Given the description of an element on the screen output the (x, y) to click on. 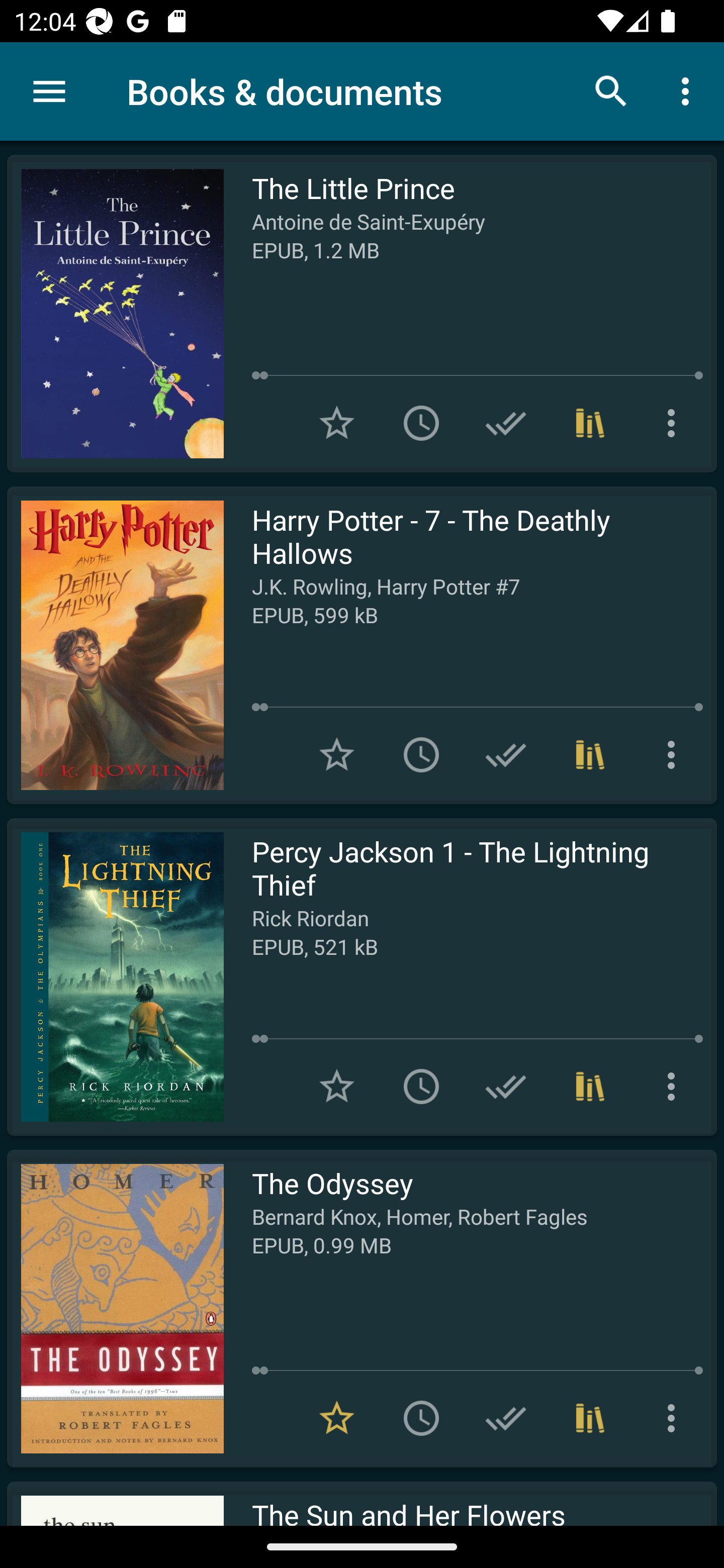
Menu (49, 91)
Search books & documents (611, 90)
More options (688, 90)
Read The Little Prince (115, 313)
Add to Favorites (336, 423)
Add to To read (421, 423)
Add to Have read (505, 423)
Collections (1) (590, 423)
More options (674, 423)
Read Harry Potter - 7 - The Deathly Hallows (115, 645)
Add to Favorites (336, 753)
Add to To read (421, 753)
Add to Have read (505, 753)
Collections (1) (590, 753)
More options (674, 753)
Read Percy Jackson 1 - The Lightning Thief (115, 976)
Add to Favorites (336, 1086)
